Given the description of an element on the screen output the (x, y) to click on. 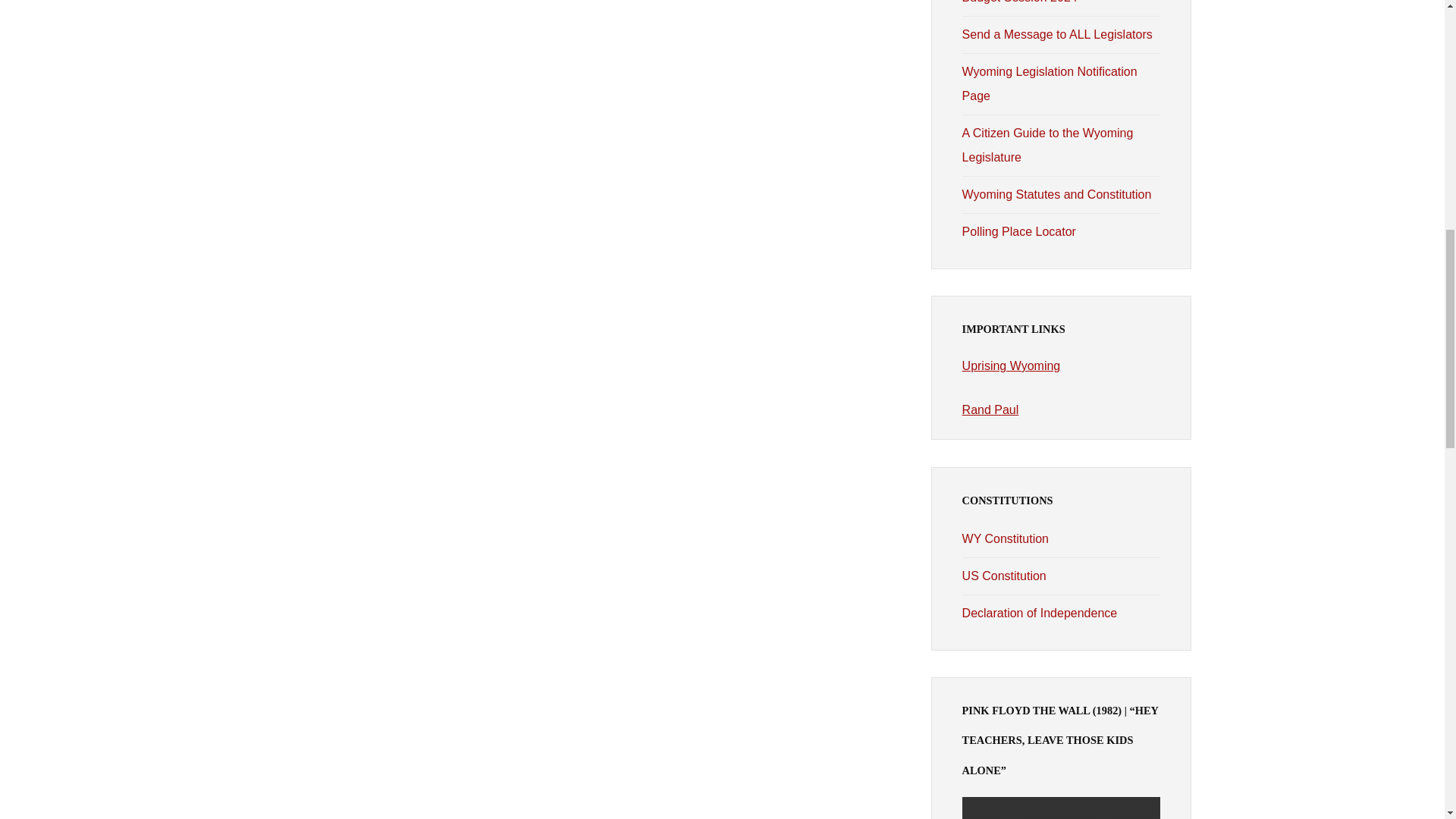
Budget Session 2024 (1019, 2)
A Citizen Guide to the Wyoming Legislature (1048, 144)
Uprising Wyoming (1011, 365)
Wyoming Statutes and Constitution (1056, 194)
Rand Paul (990, 409)
US Constitution (1004, 575)
Send a Message to ALL Legislators (1057, 33)
WY Constitution (1005, 538)
Wyoming Legislation Notification Page (1049, 83)
Polling Place Locator (1018, 231)
